Given the description of an element on the screen output the (x, y) to click on. 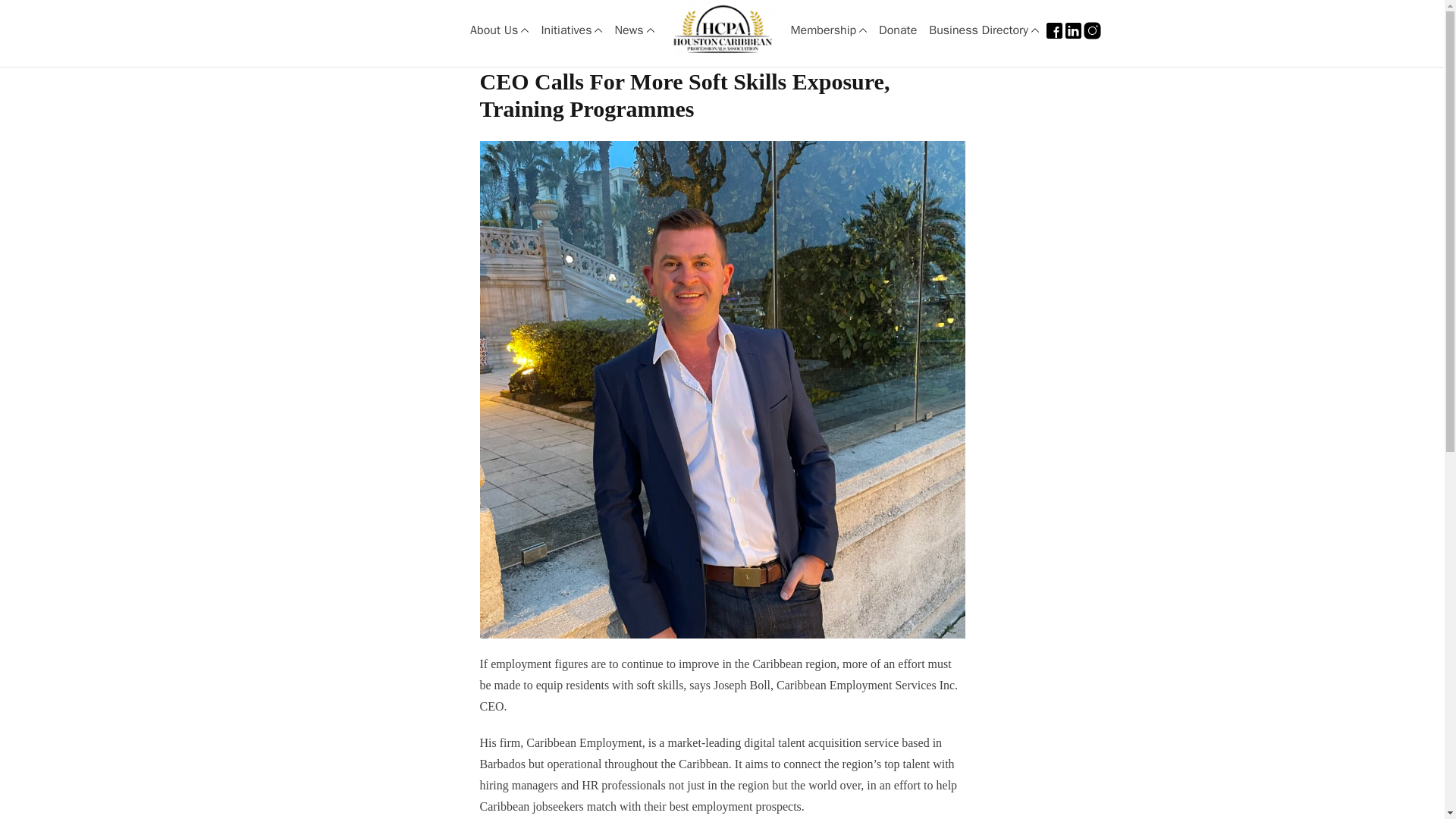
About Us (499, 33)
Initiatives (571, 33)
Business Directory (984, 33)
Membership (828, 33)
